Given the description of an element on the screen output the (x, y) to click on. 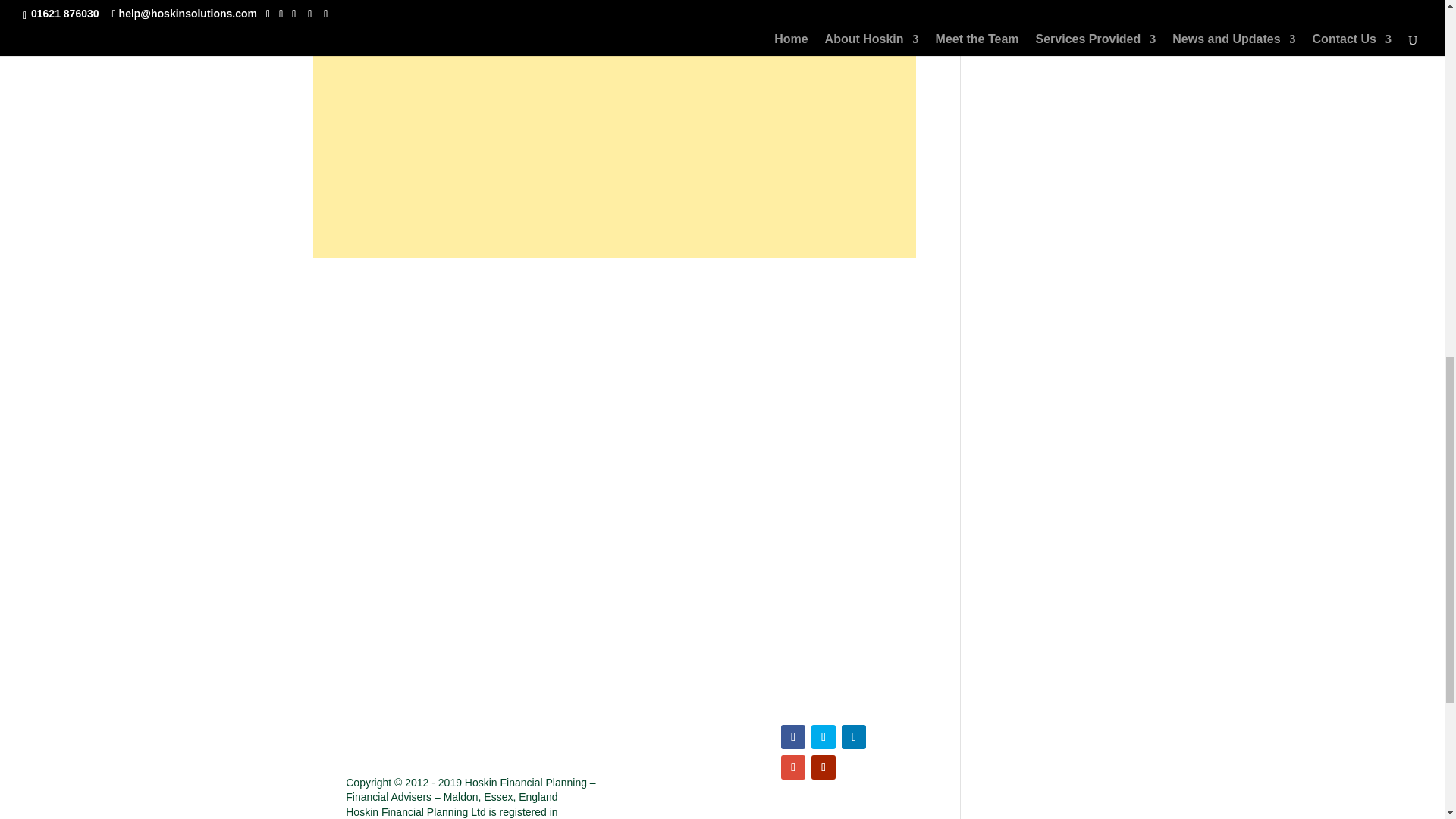
Follow on Facebook (792, 736)
Follow on Youtube (822, 767)
Follow on LinkedIn (853, 736)
Follow on Twitter (822, 736)
